Given the description of an element on the screen output the (x, y) to click on. 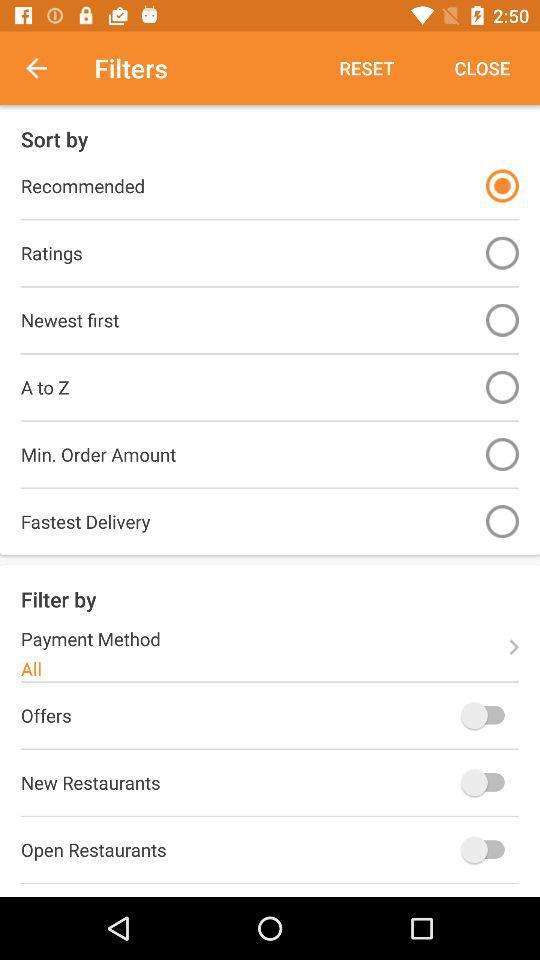
select option (502, 521)
